Given the description of an element on the screen output the (x, y) to click on. 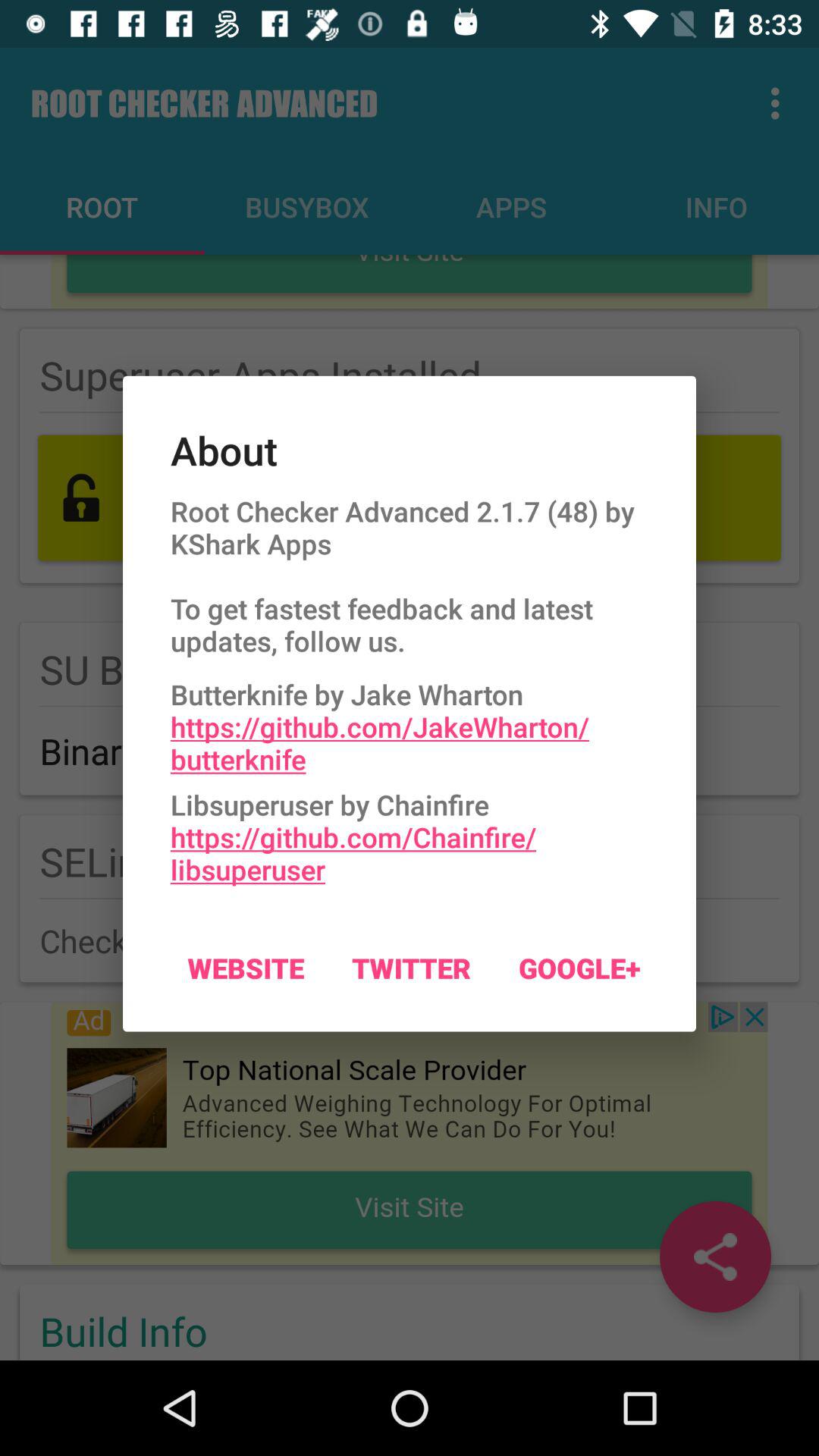
press the item below the libsuperuser by chainfire (245, 967)
